Given the description of an element on the screen output the (x, y) to click on. 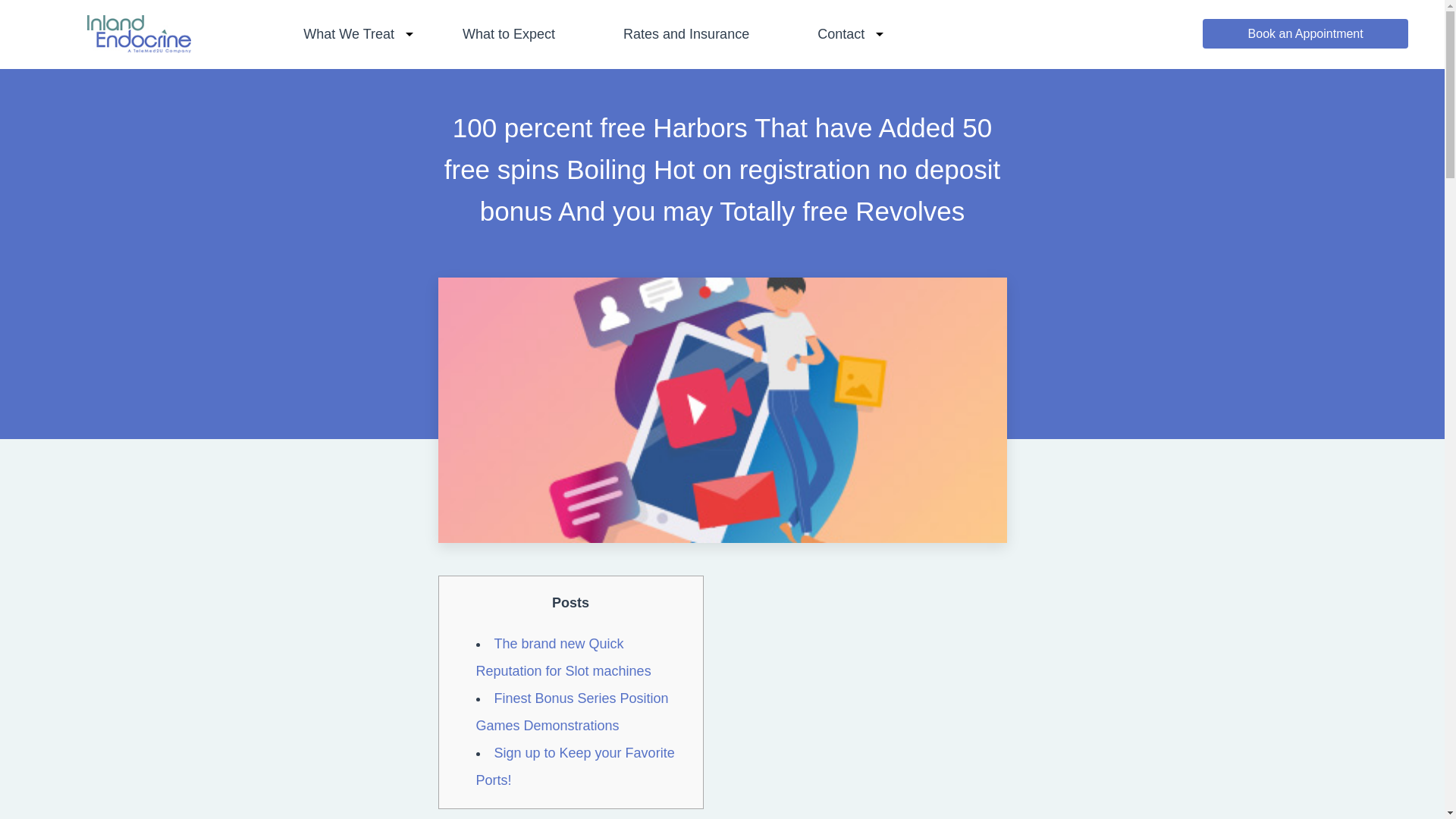
Rates and Insurance (686, 33)
Finest Bonus Series Position Games Demonstrations (572, 711)
What We Treat (348, 33)
Book an Appointment (1304, 33)
Sign up to Keep your Favorite Ports! (575, 765)
Inland Endocrine (138, 48)
The brand new Quick Reputation for Slot machines (563, 656)
Contact (840, 33)
What to Expect (508, 33)
